Given the description of an element on the screen output the (x, y) to click on. 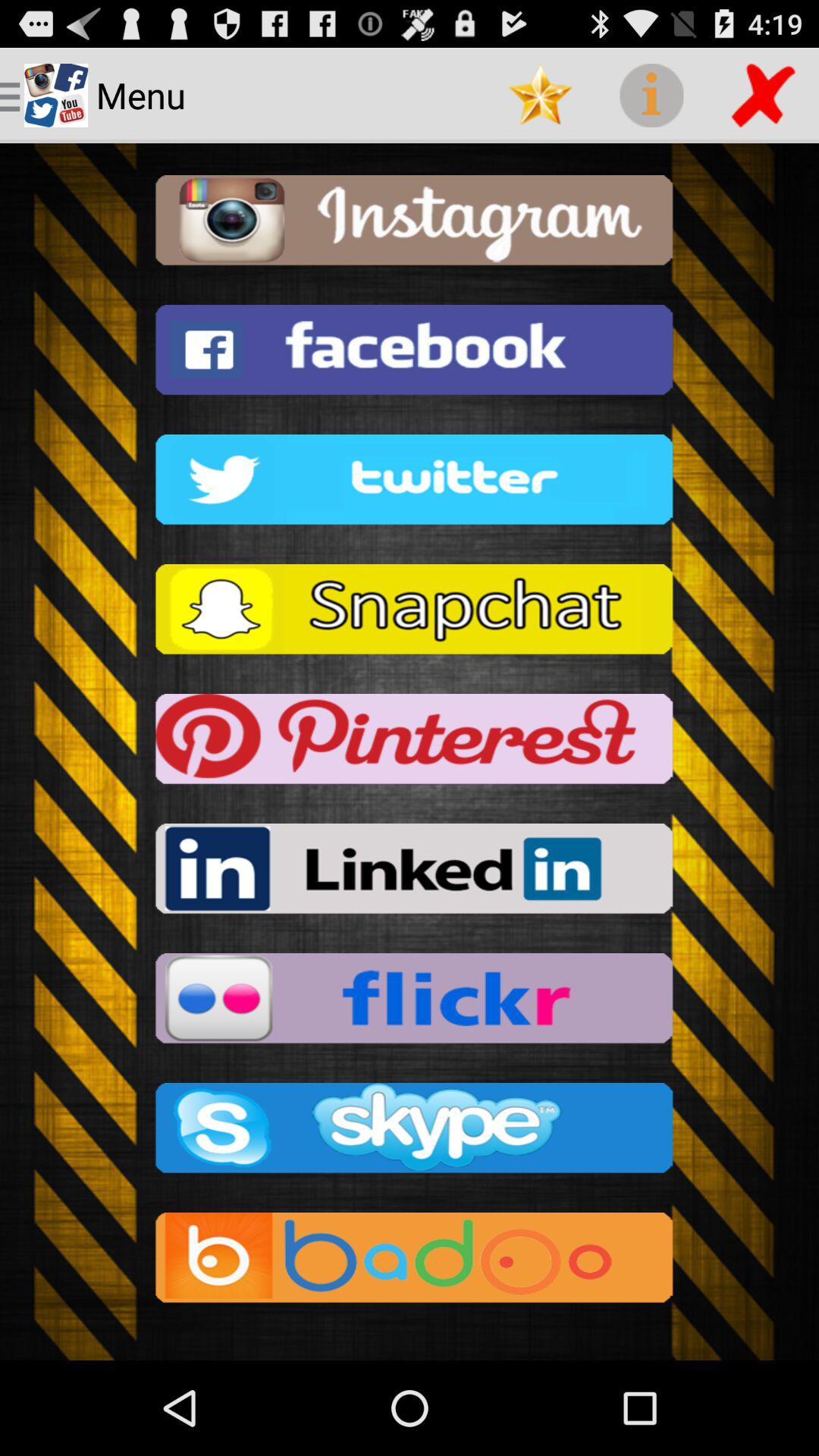
click instagram option (409, 224)
